Given the description of an element on the screen output the (x, y) to click on. 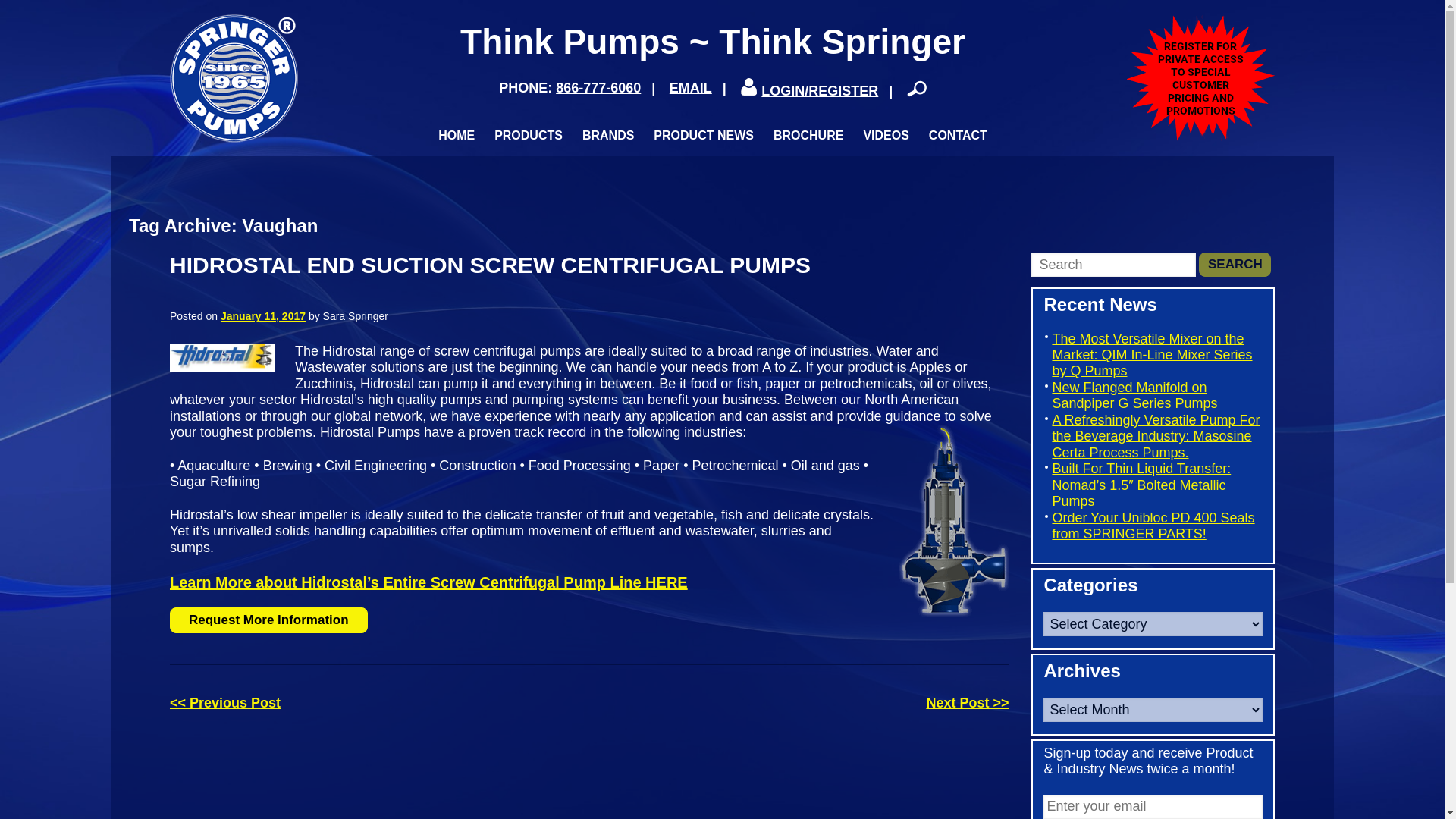
PRODUCTS (528, 134)
866-777-6060 (598, 87)
HOME (456, 134)
Request More Info (269, 620)
EMAIL (690, 87)
Search (1234, 264)
Hidrostal Pumps Logo (232, 367)
Springer Pumps, LLC. (234, 77)
BRANDS (608, 134)
